Given the description of an element on the screen output the (x, y) to click on. 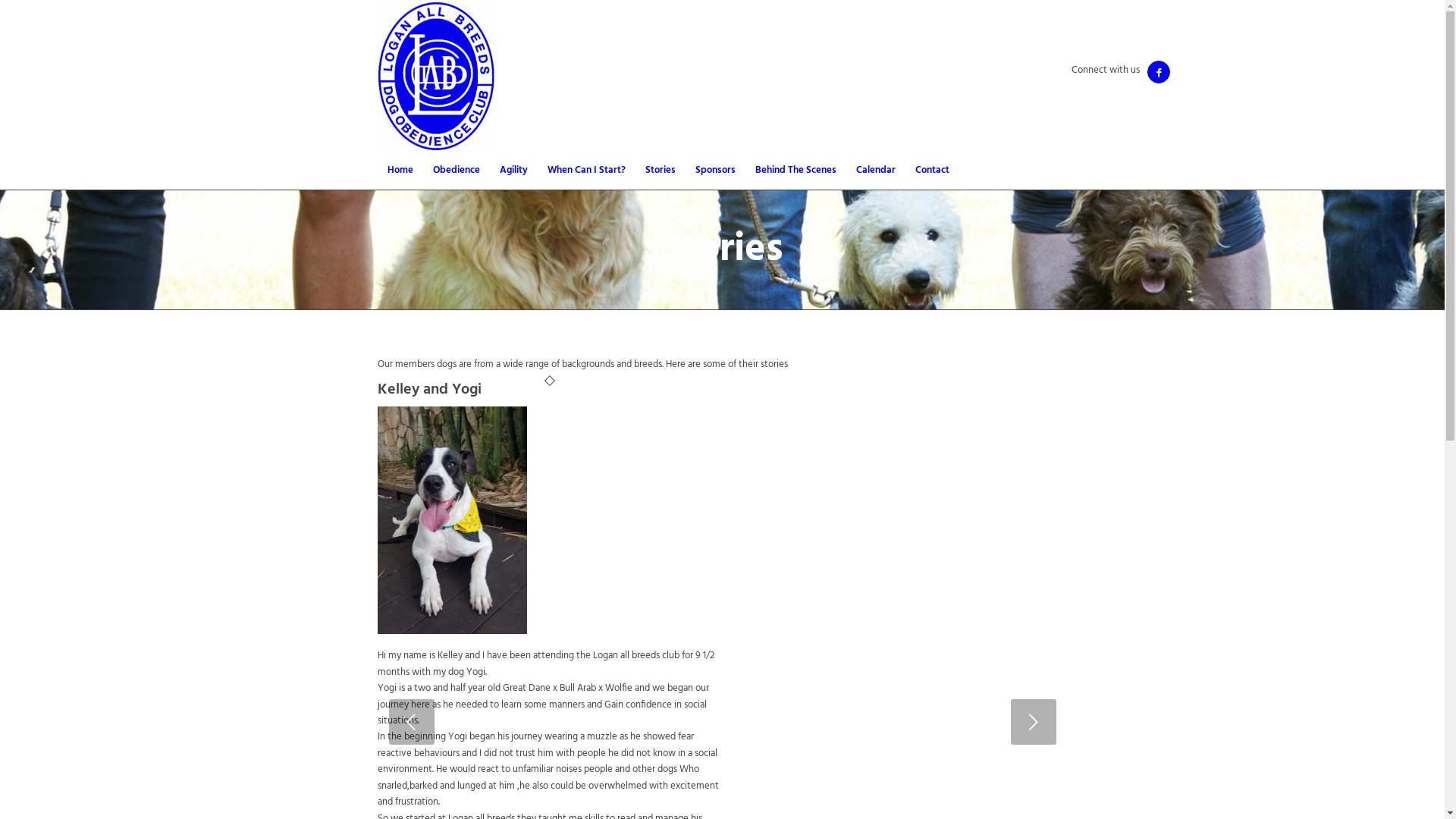
Sponsors Element type: text (715, 170)
Next Element type: text (1032, 721)
Agility Element type: text (513, 170)
Contact Element type: text (932, 170)
Behind The Scenes Element type: text (794, 170)
Obedience Element type: text (456, 170)
Facebook Element type: hover (1158, 71)
Submit Element type: text (28, 15)
Stories Element type: text (660, 170)
Previous Element type: text (410, 721)
Home Element type: text (400, 170)
When Can I Start? Element type: text (585, 170)
Calendar Element type: text (875, 170)
